Given the description of an element on the screen output the (x, y) to click on. 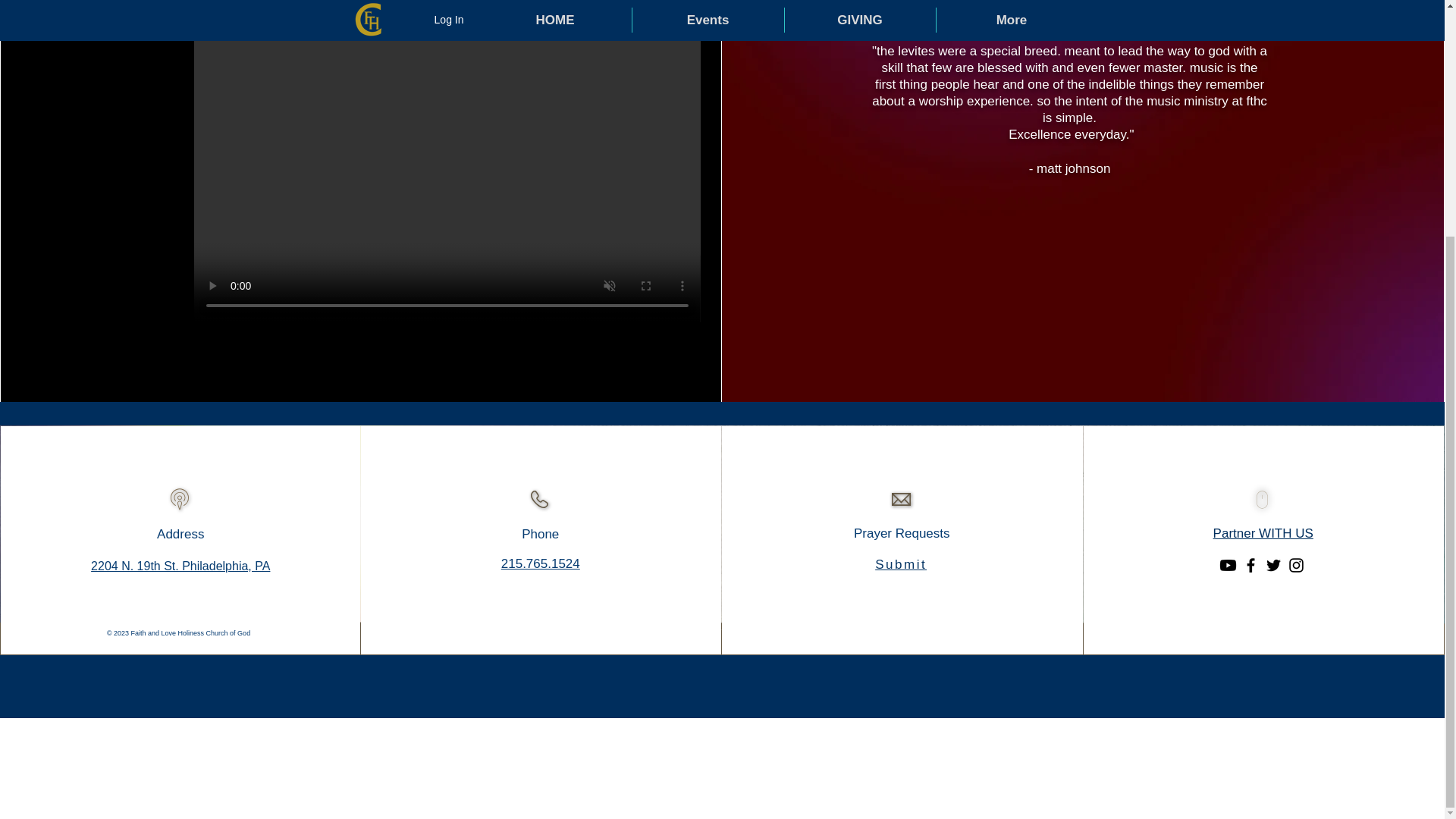
Submit (901, 564)
2204 N. 19th St. Philadelphia, PA (179, 565)
215.765.1524 (539, 563)
Partner WITH US (1262, 533)
